Given the description of an element on the screen output the (x, y) to click on. 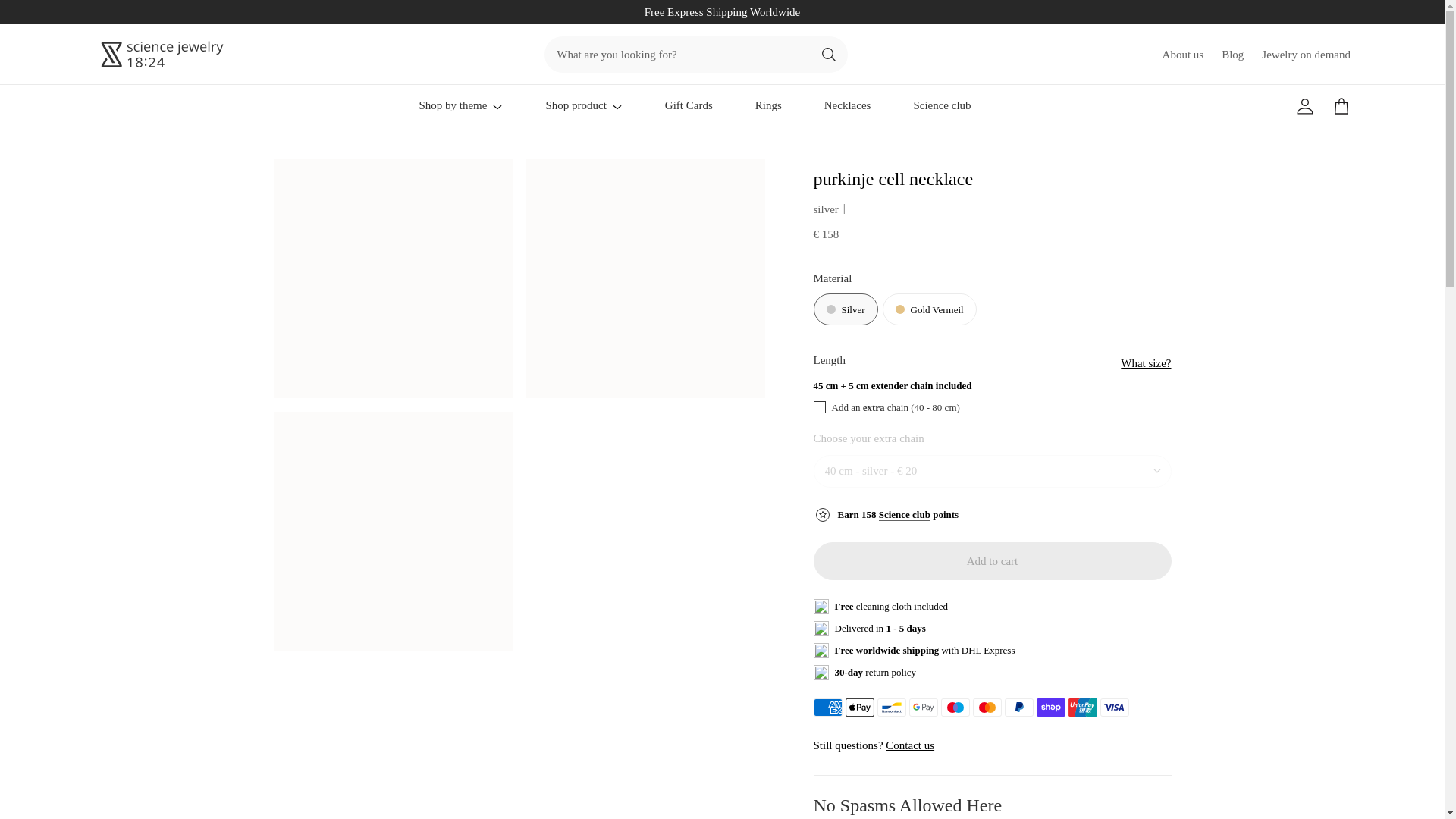
Necklaces (847, 105)
About us (909, 745)
Gift Cards (689, 105)
Jewelry on demand (1306, 54)
Shop product (582, 105)
Rings (768, 105)
true (818, 407)
About us (1182, 54)
Science club (941, 105)
Shop by theme (460, 105)
